Given the description of an element on the screen output the (x, y) to click on. 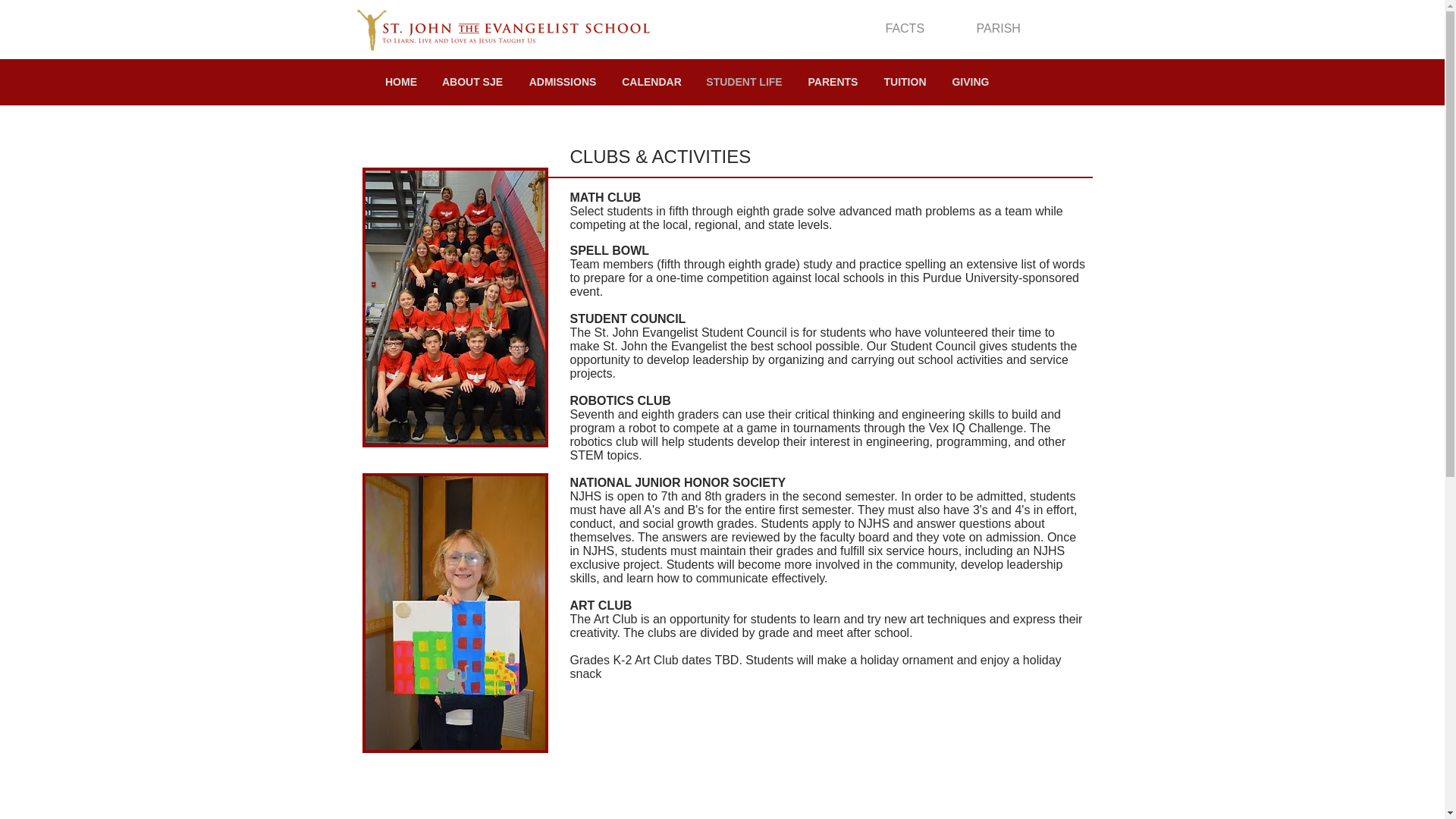
PARISH (998, 28)
ABOUT SJE (472, 81)
STUDENT LIFE (743, 81)
ADMISSIONS (562, 81)
CALENDAR (651, 81)
HOME (400, 81)
TUITION (904, 81)
FACTS (904, 28)
PARENTS (832, 81)
